Given the description of an element on the screen output the (x, y) to click on. 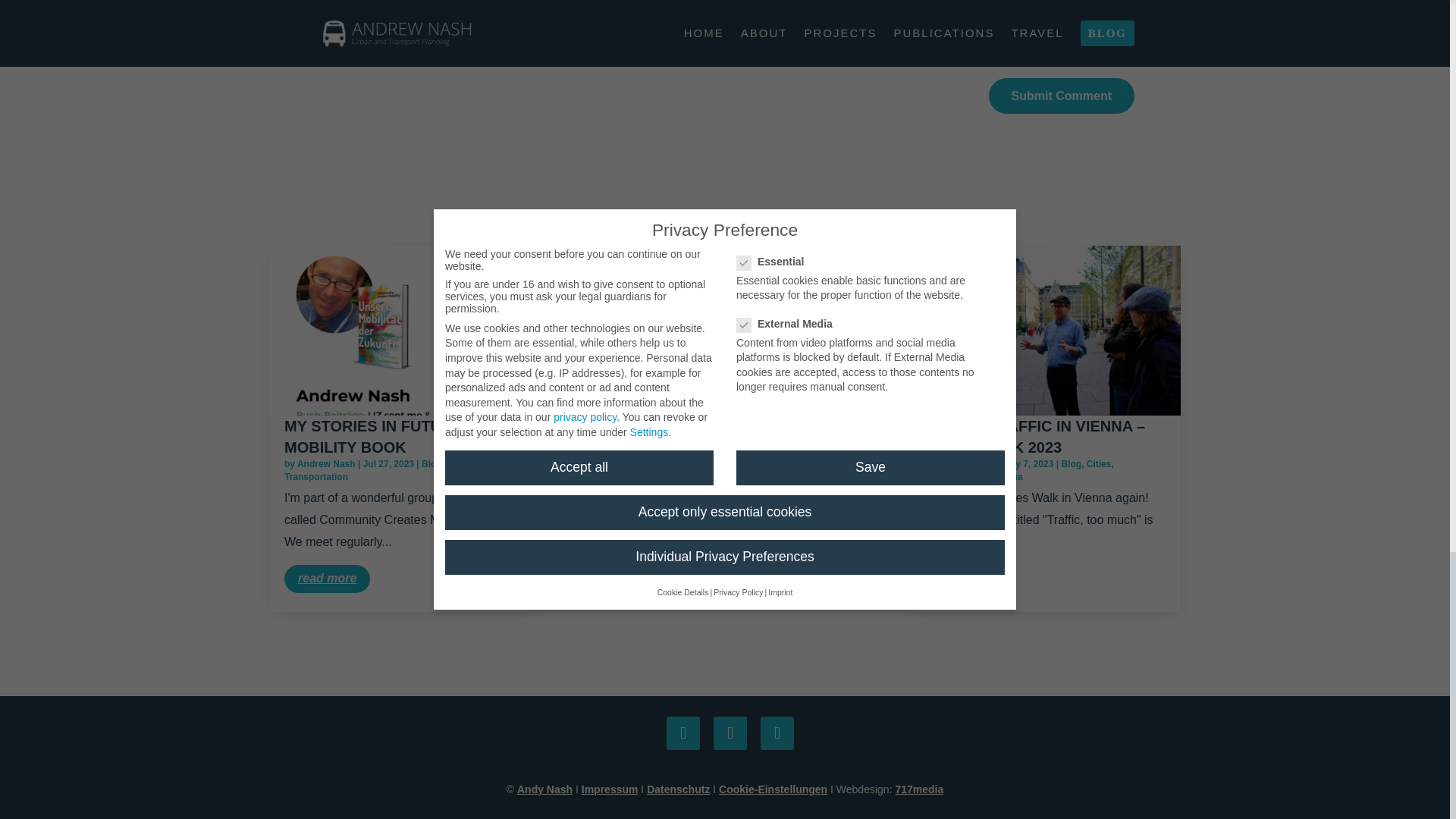
MY STORIES IN FUTURE OF MOBILITY BOOK (385, 436)
Blog (749, 463)
Andrew Nash (326, 463)
Posts by Andrew Nash (326, 463)
Posts by Andrew Nash (966, 463)
Follow on Flickr (776, 733)
Blog (1071, 463)
Transportation (315, 476)
Andrew Nash (646, 463)
subscribe (323, 45)
Transportation (956, 476)
Blog (432, 463)
Andrew Nash (966, 463)
read more (326, 578)
Technology (471, 463)
